Given the description of an element on the screen output the (x, y) to click on. 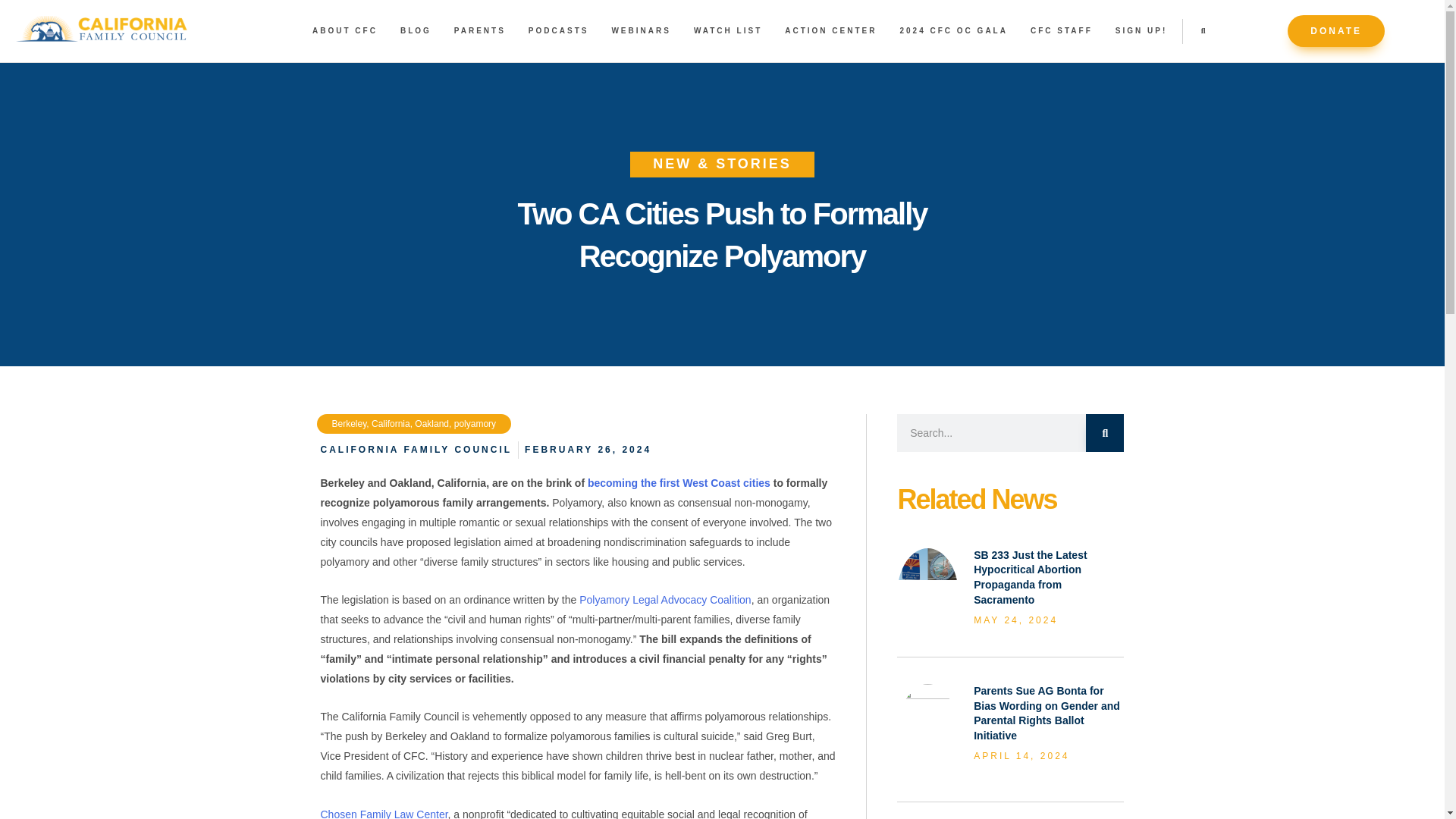
PODCASTS (557, 30)
Berkeley (348, 423)
CFC STAFF (1061, 30)
FEBRUARY 26, 2024 (587, 449)
SIGN UP! (1140, 30)
California (390, 423)
Polyamory Legal Advocacy Coalition (665, 599)
Chosen Family Law Center (383, 813)
bonta - California Family Council (927, 703)
